Given the description of an element on the screen output the (x, y) to click on. 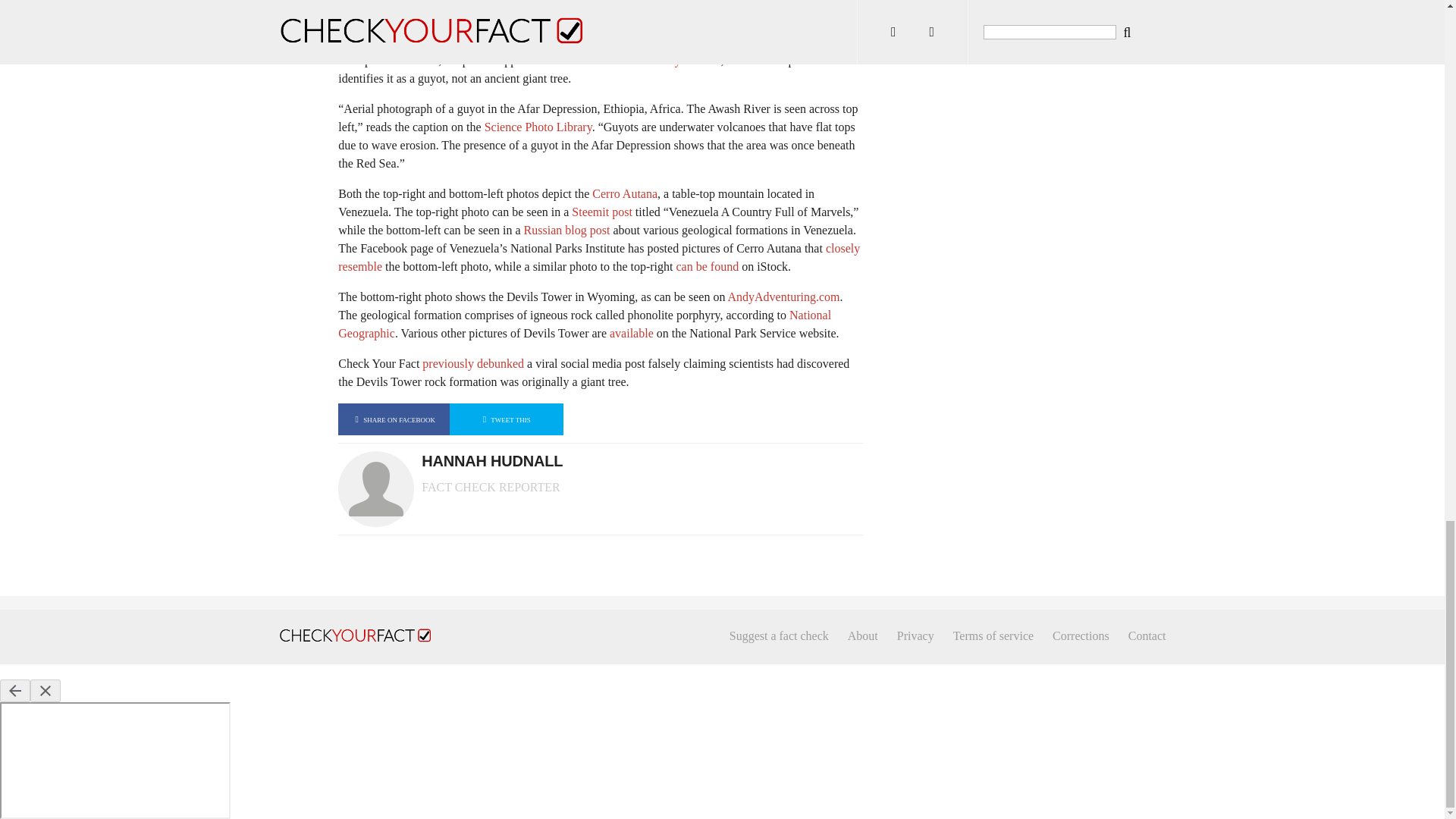
SHARE ON FACEBOOK (394, 418)
Afar Depression (768, 42)
Cerro Autana (625, 193)
available (631, 332)
Russian blog post (567, 229)
Science Photo Library (626, 60)
National Geographic (584, 323)
AndyAdventuring.com (784, 296)
About (862, 635)
closely (842, 247)
